Given the description of an element on the screen output the (x, y) to click on. 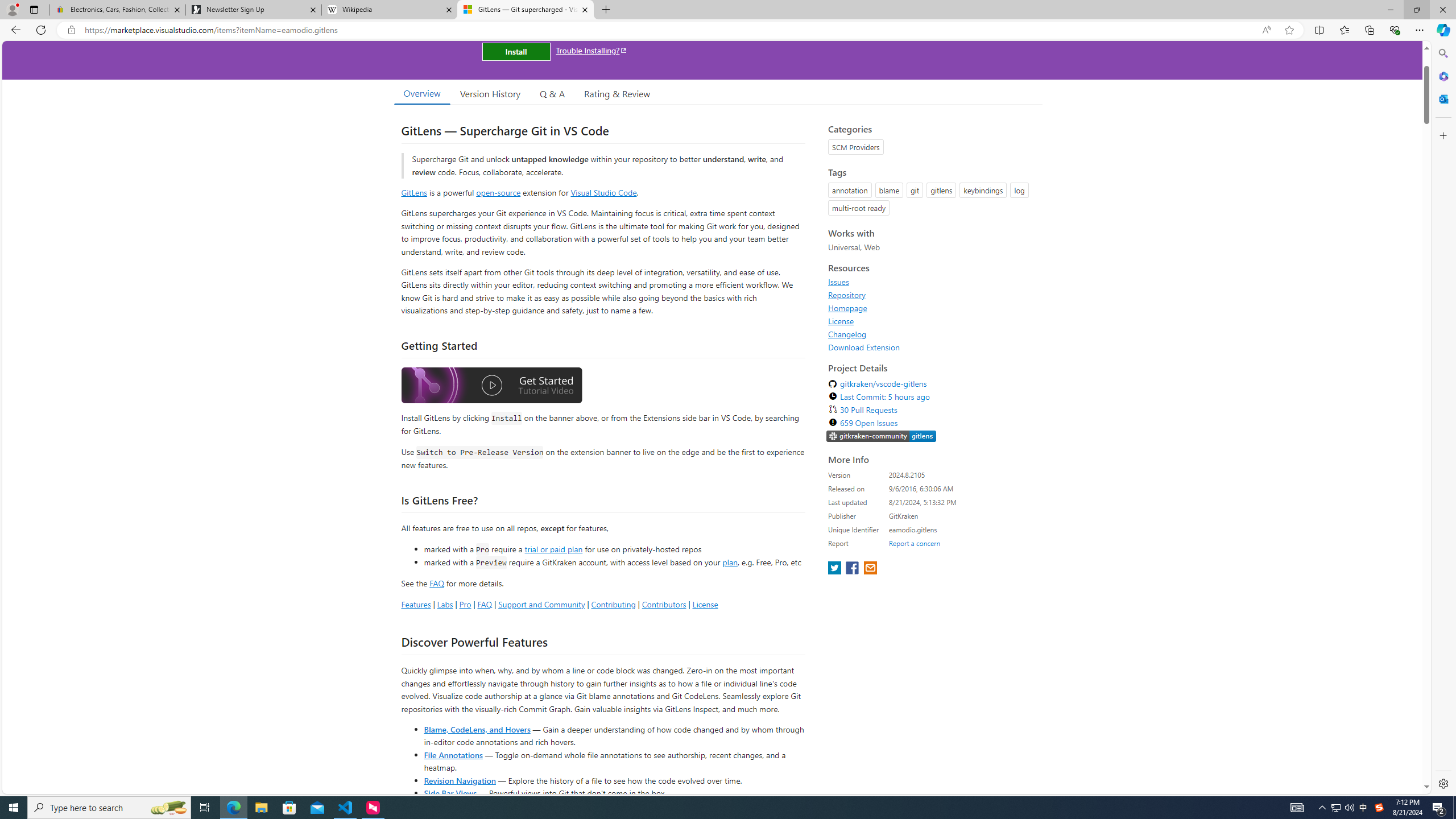
Overview (421, 92)
https://slack.gitkraken.com// (881, 436)
Labs (444, 603)
Side Bar Views (449, 792)
Changelog (847, 333)
Watch the GitLens Getting Started video (491, 385)
Version History (489, 92)
License (931, 320)
